Given the description of an element on the screen output the (x, y) to click on. 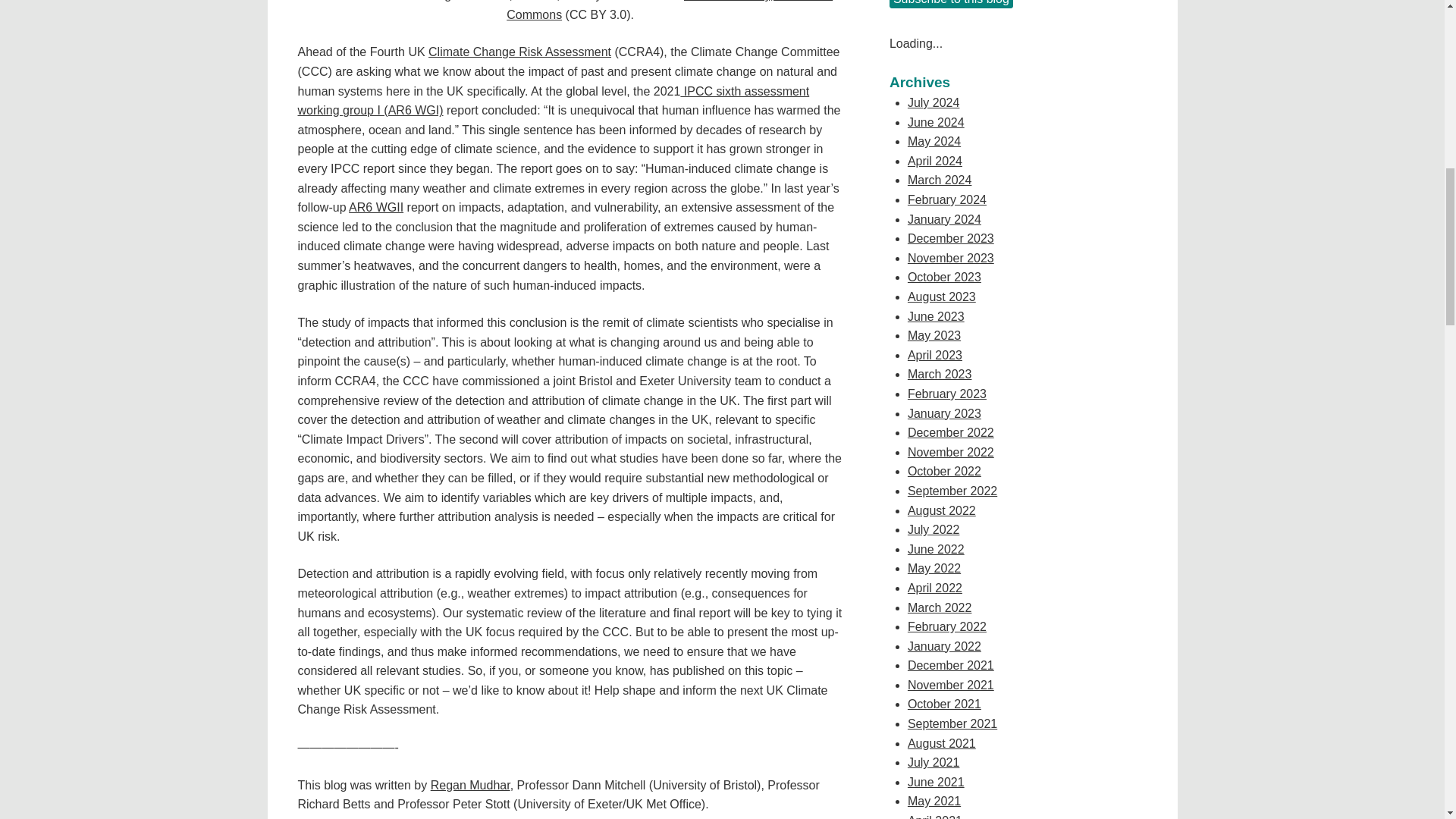
AR6 WGII (376, 206)
Harrison Healey, Wikimedia Commons (669, 10)
Regan Mudhar (470, 784)
Subscribe to this blog (951, 4)
Climate Change Risk Assessment (519, 51)
